Given the description of an element on the screen output the (x, y) to click on. 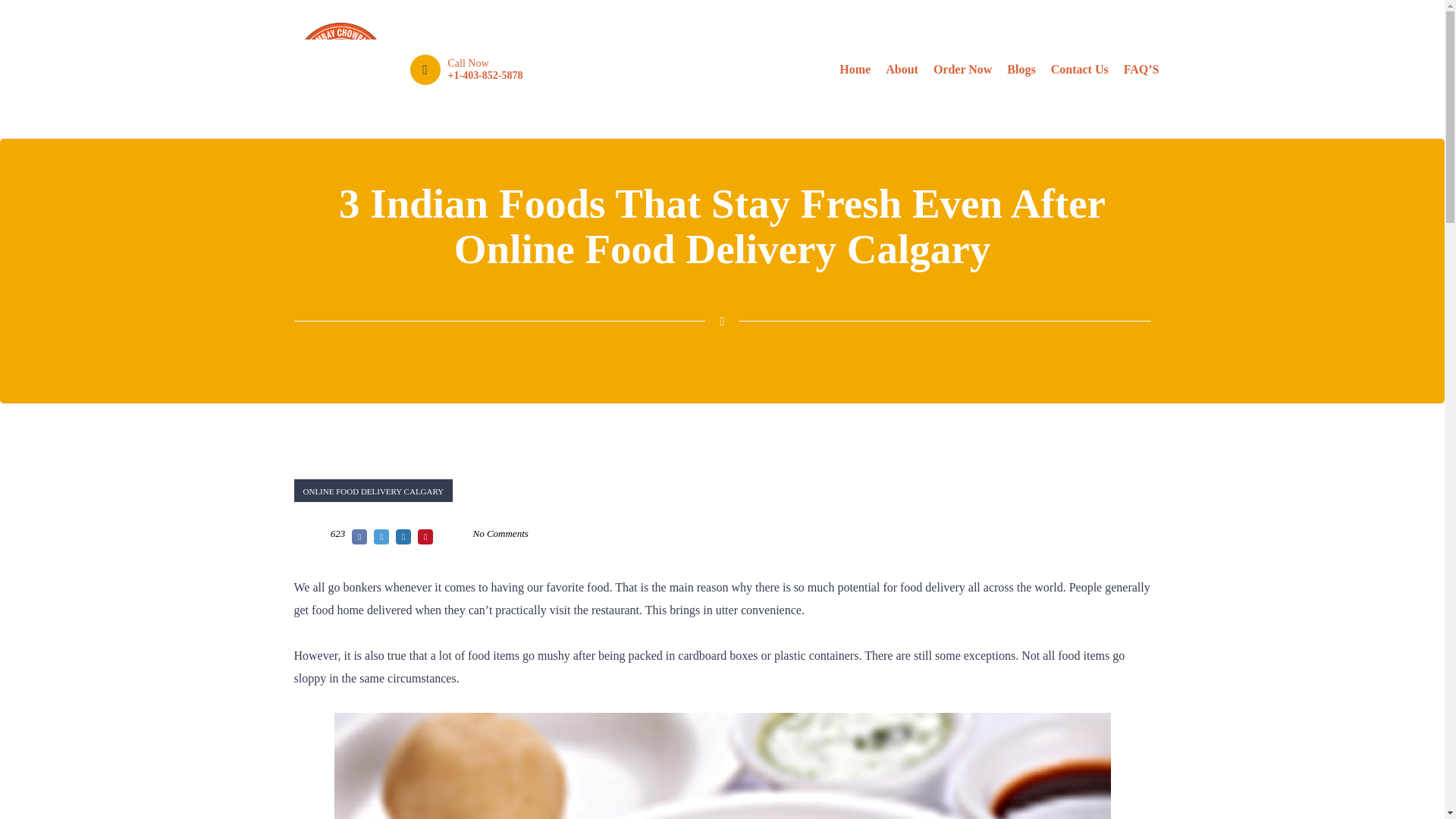
Order Now (962, 69)
Blogs (1020, 69)
About (901, 69)
Home (854, 69)
Contact Us (1079, 69)
ONLINE FOOD DELIVERY CALGARY (373, 490)
